Given the description of an element on the screen output the (x, y) to click on. 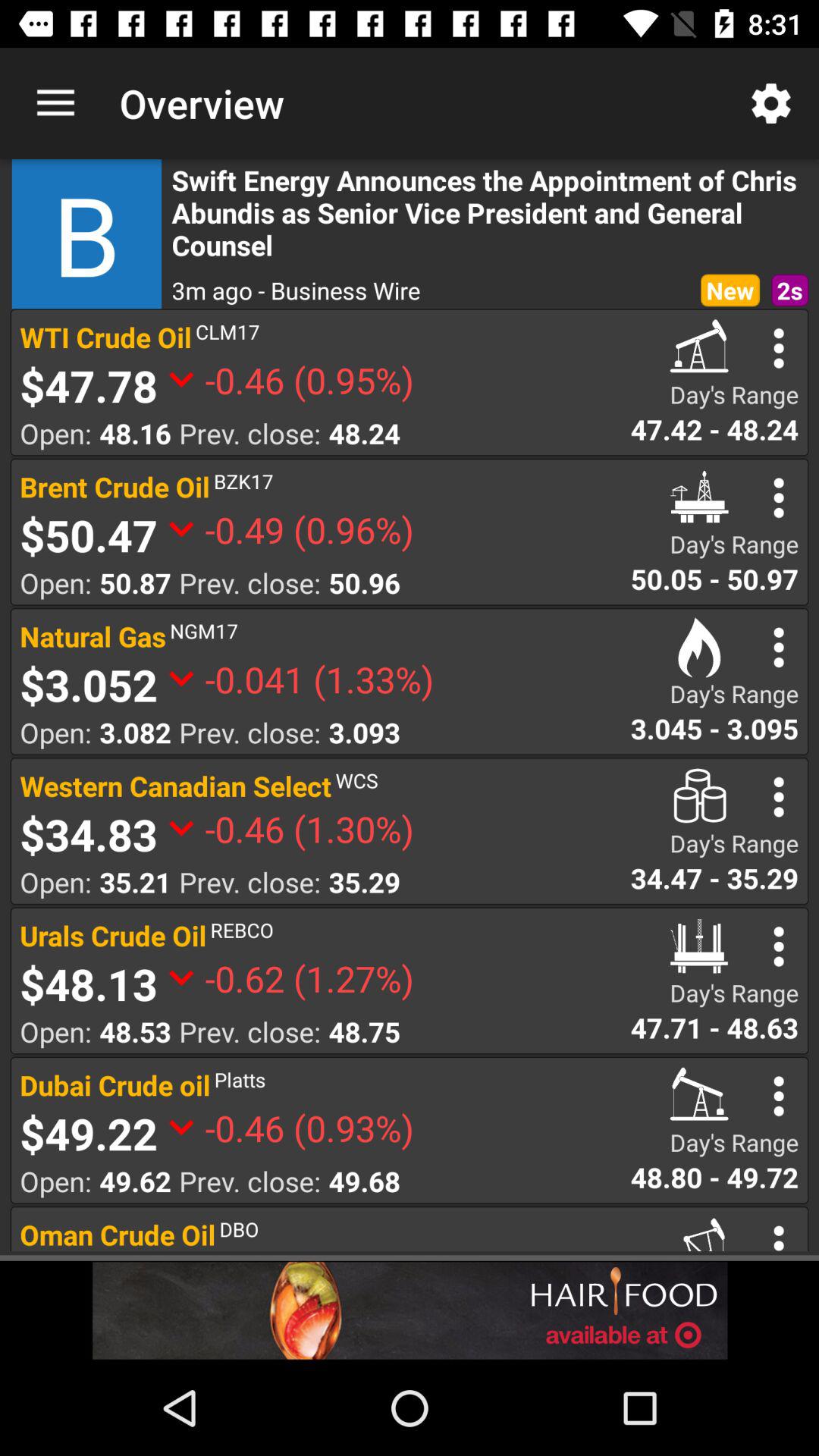
toggle menu option (778, 1096)
